Given the description of an element on the screen output the (x, y) to click on. 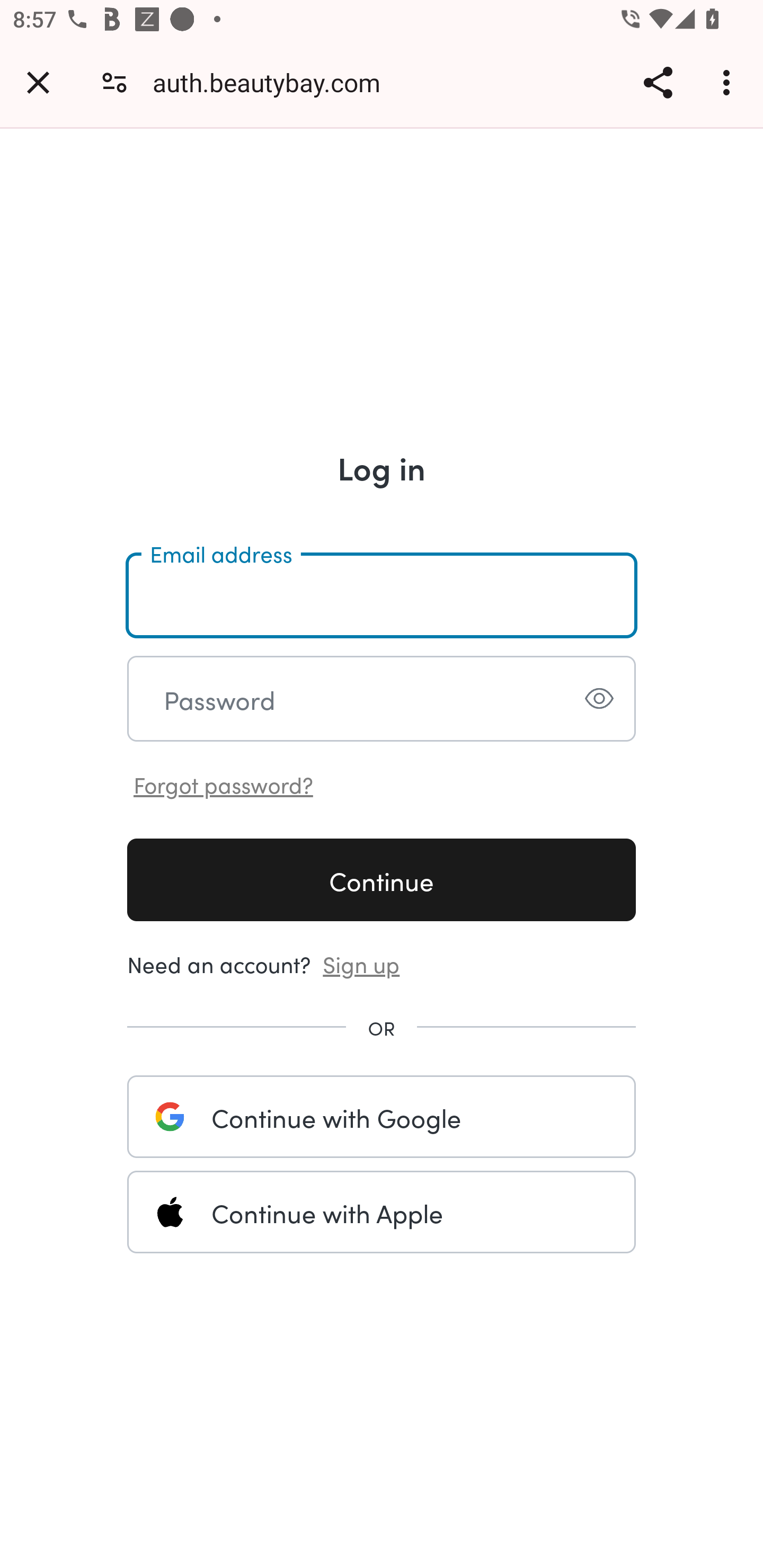
Close tab (38, 82)
Share (657, 82)
Customize and control Google Chrome (729, 82)
Connection is secure (114, 81)
auth.beautybay.com (272, 81)
Show password (599, 698)
Forgot password? (223, 782)
Continue (381, 879)
Sign up (361, 962)
Continue with Google (381, 1116)
Continue with Apple (381, 1211)
